Given the description of an element on the screen output the (x, y) to click on. 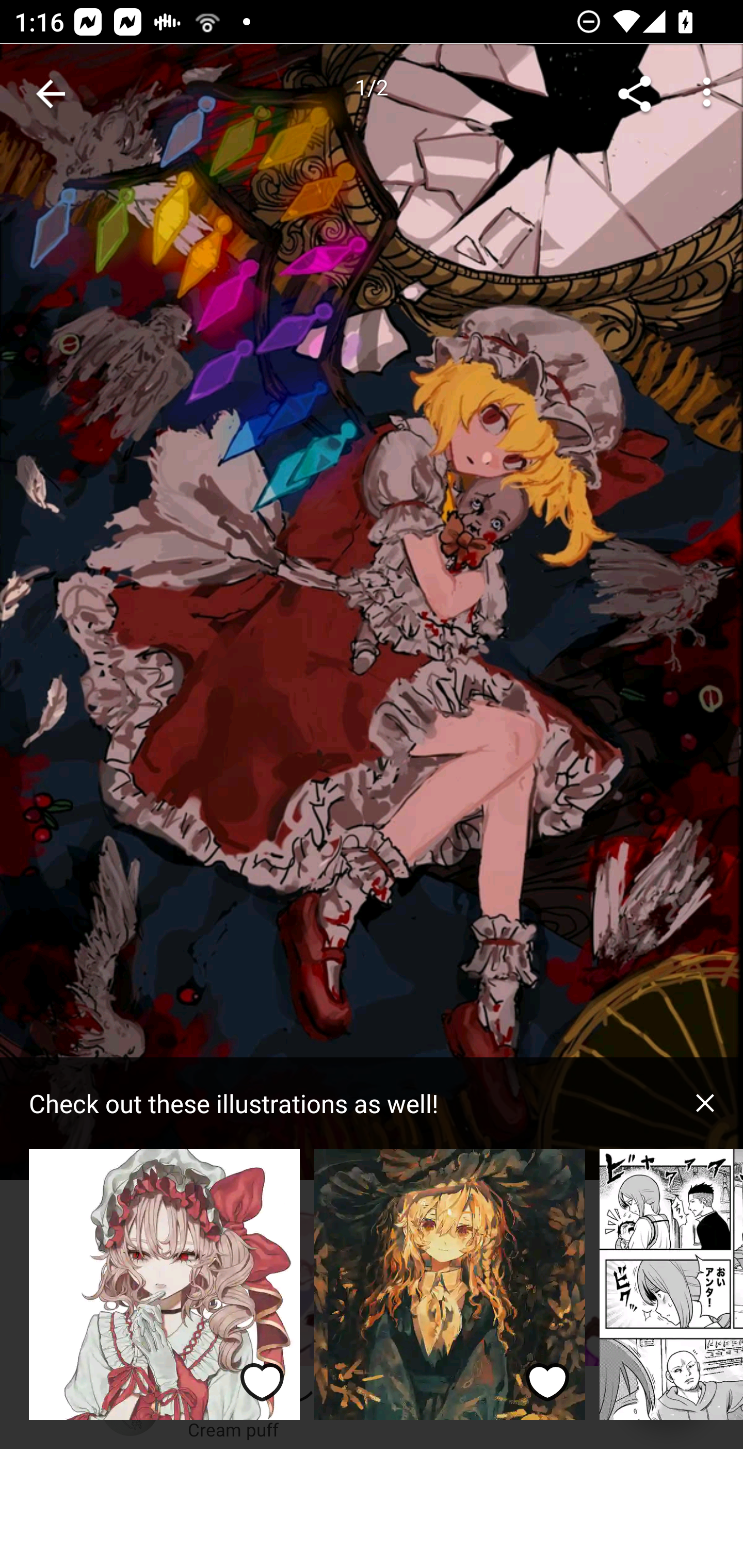
Share (634, 93)
More options (706, 93)
